Given the description of an element on the screen output the (x, y) to click on. 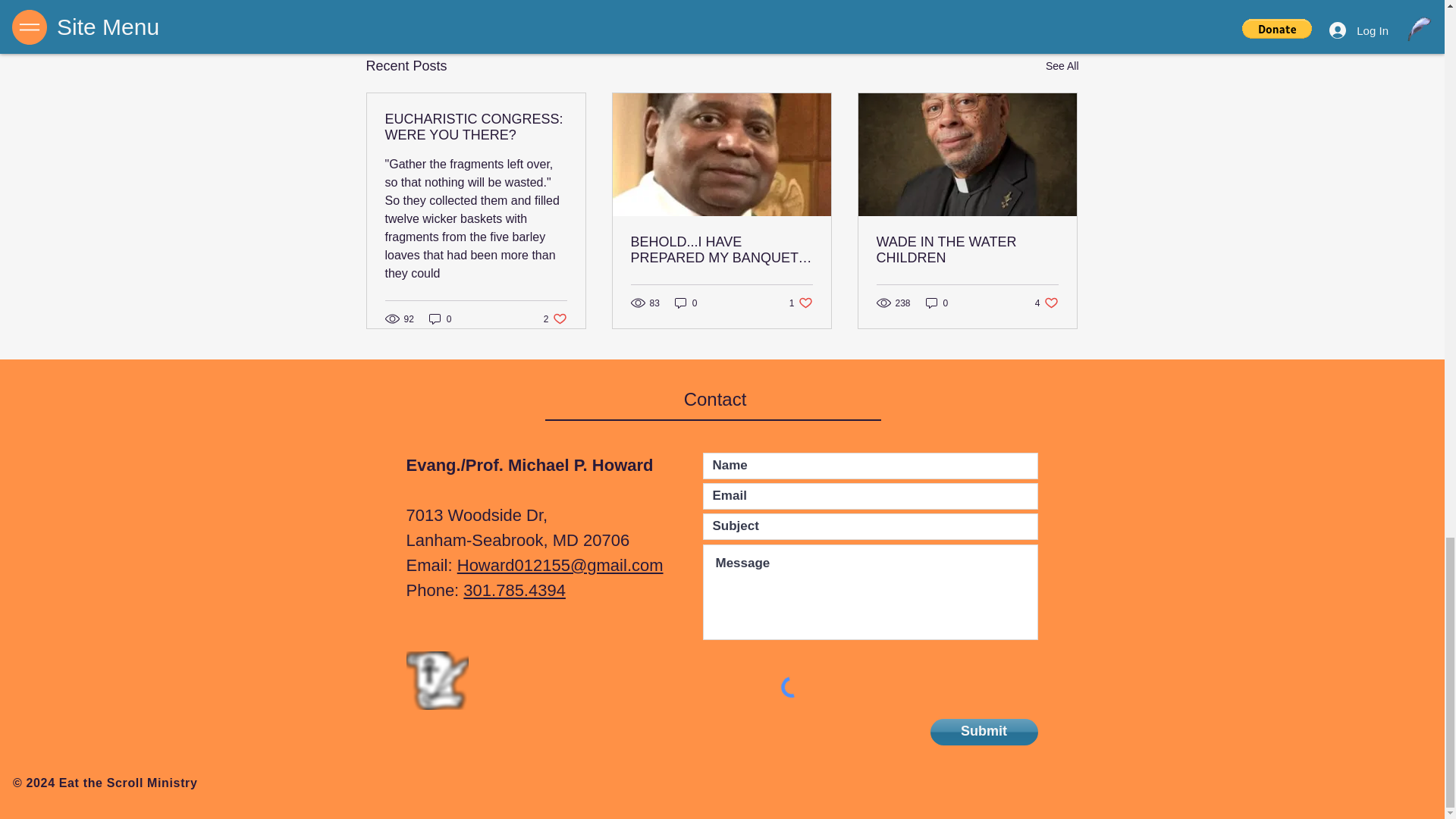
0 (555, 318)
See All (440, 318)
0 (1061, 65)
EUCHARISTIC CONGRESS: WERE YOU THERE? (685, 302)
